Given the description of an element on the screen output the (x, y) to click on. 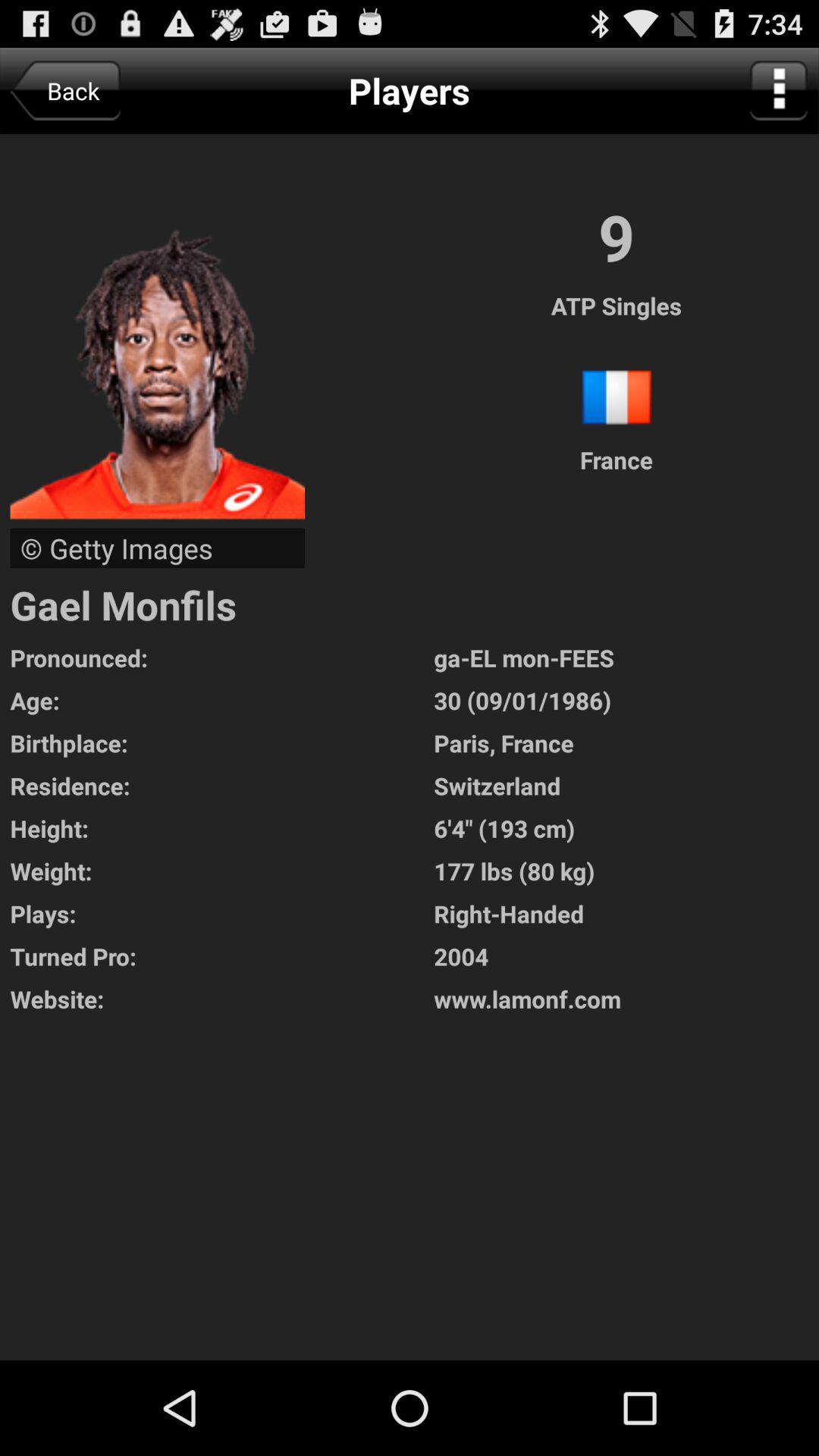
choose icon to the left of ga el mon app (221, 700)
